Given the description of an element on the screen output the (x, y) to click on. 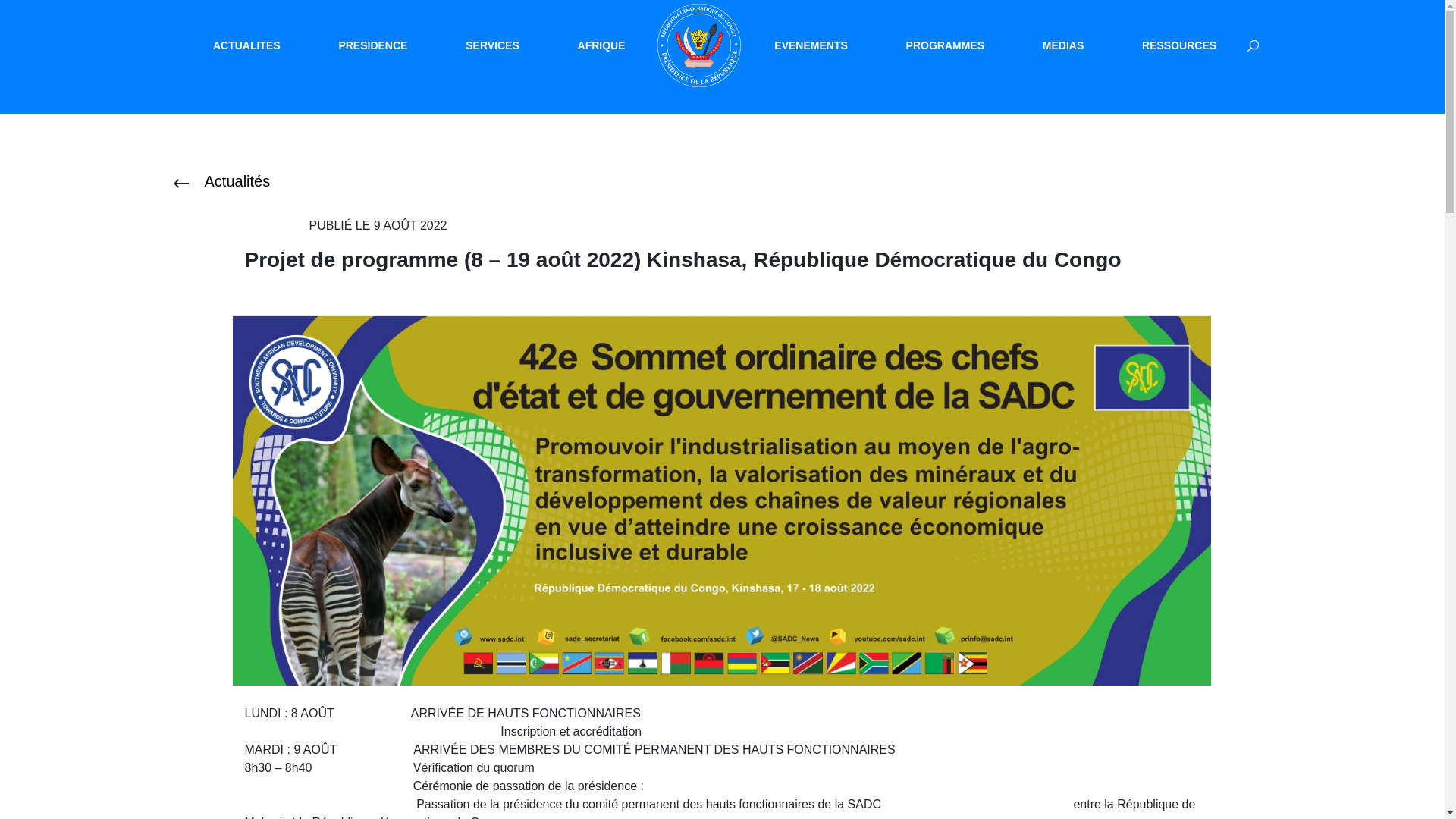
MEDIAS Element type: text (1062, 45)
RESSOURCES Element type: text (1179, 45)
PROGRAMMES Element type: text (945, 45)
EVENEMENTS Element type: text (810, 45)
PRESIDENCE Element type: text (372, 45)
ACTUALITES Element type: text (246, 45)
SERVICES Element type: text (492, 45)
AFRIQUE Element type: text (601, 45)
